Given the description of an element on the screen output the (x, y) to click on. 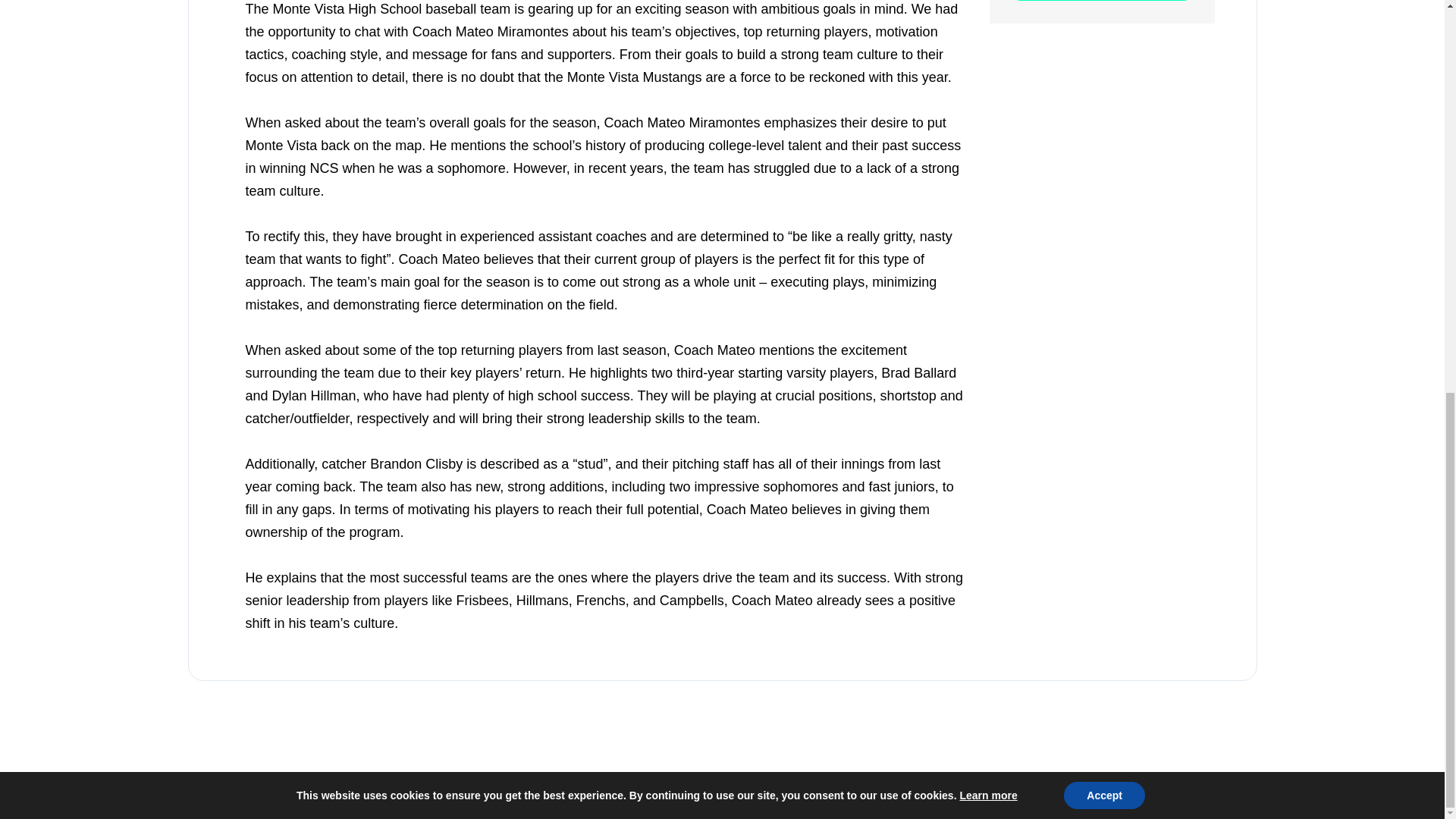
Learn more (987, 40)
Accept (1104, 40)
